Given the description of an element on the screen output the (x, y) to click on. 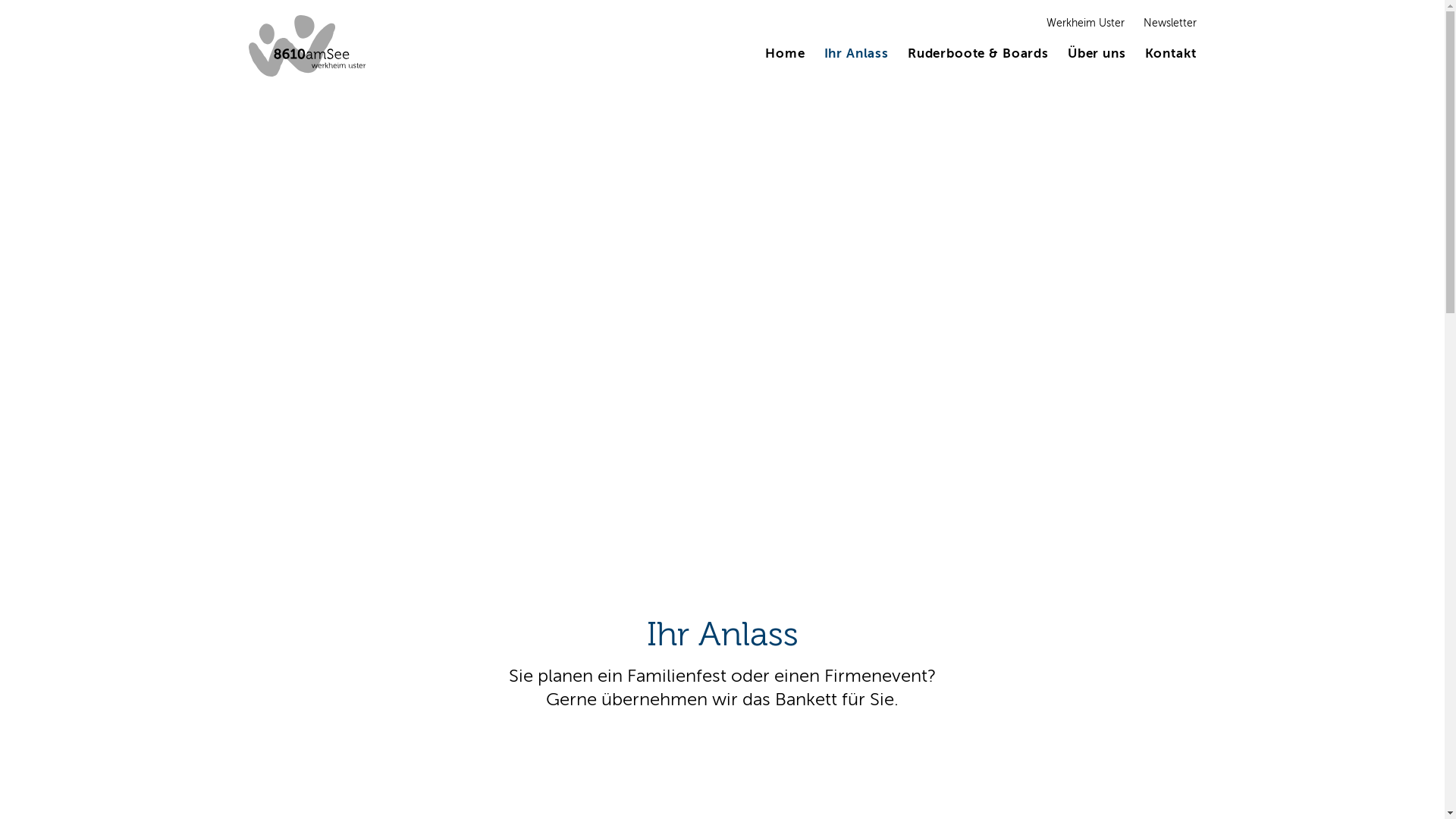
Ihr Anlass Element type: text (855, 53)
Home Element type: text (784, 53)
Werkheim Uster Element type: text (1085, 24)
Newsletter Element type: text (1169, 24)
8610 Restaurant am See, Werkheim Uster Element type: text (307, 45)
Kontakt Element type: text (1170, 53)
Ruderboote & Boards Element type: text (977, 53)
